Given the description of an element on the screen output the (x, y) to click on. 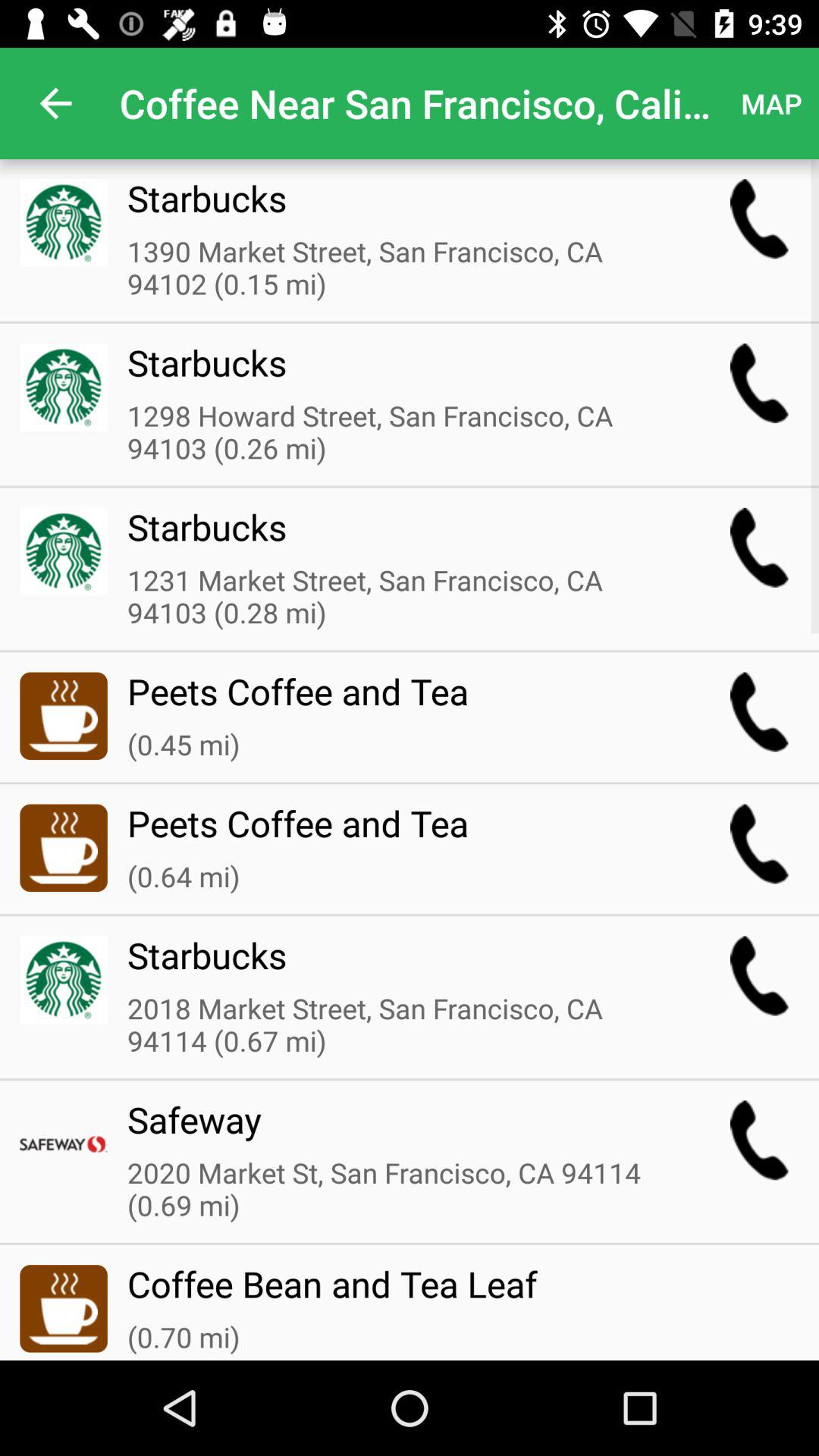
turn on the icon to the right of coffee near san icon (771, 103)
